Given the description of an element on the screen output the (x, y) to click on. 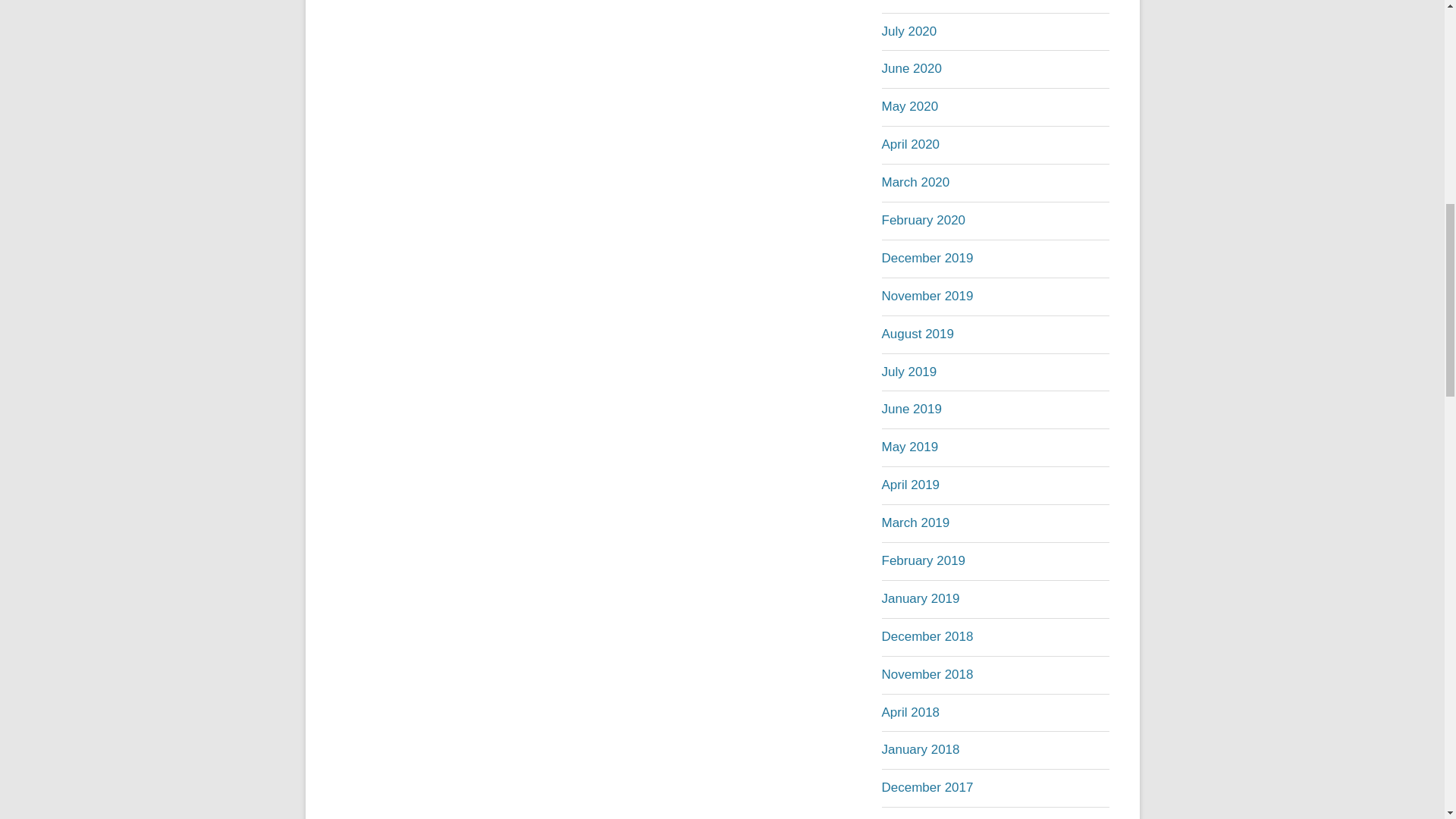
June 2020 (910, 68)
December 2019 (926, 257)
July 2020 (908, 31)
November 2019 (926, 296)
February 2020 (922, 219)
Damaged Boards Cause Data Loss (443, 1)
April 2019 (909, 484)
July 2019 (908, 371)
August 2019 (916, 333)
May 2019 (908, 446)
March 2019 (914, 522)
June 2019 (910, 409)
March 2020 (914, 182)
April 2020 (909, 144)
